Given the description of an element on the screen output the (x, y) to click on. 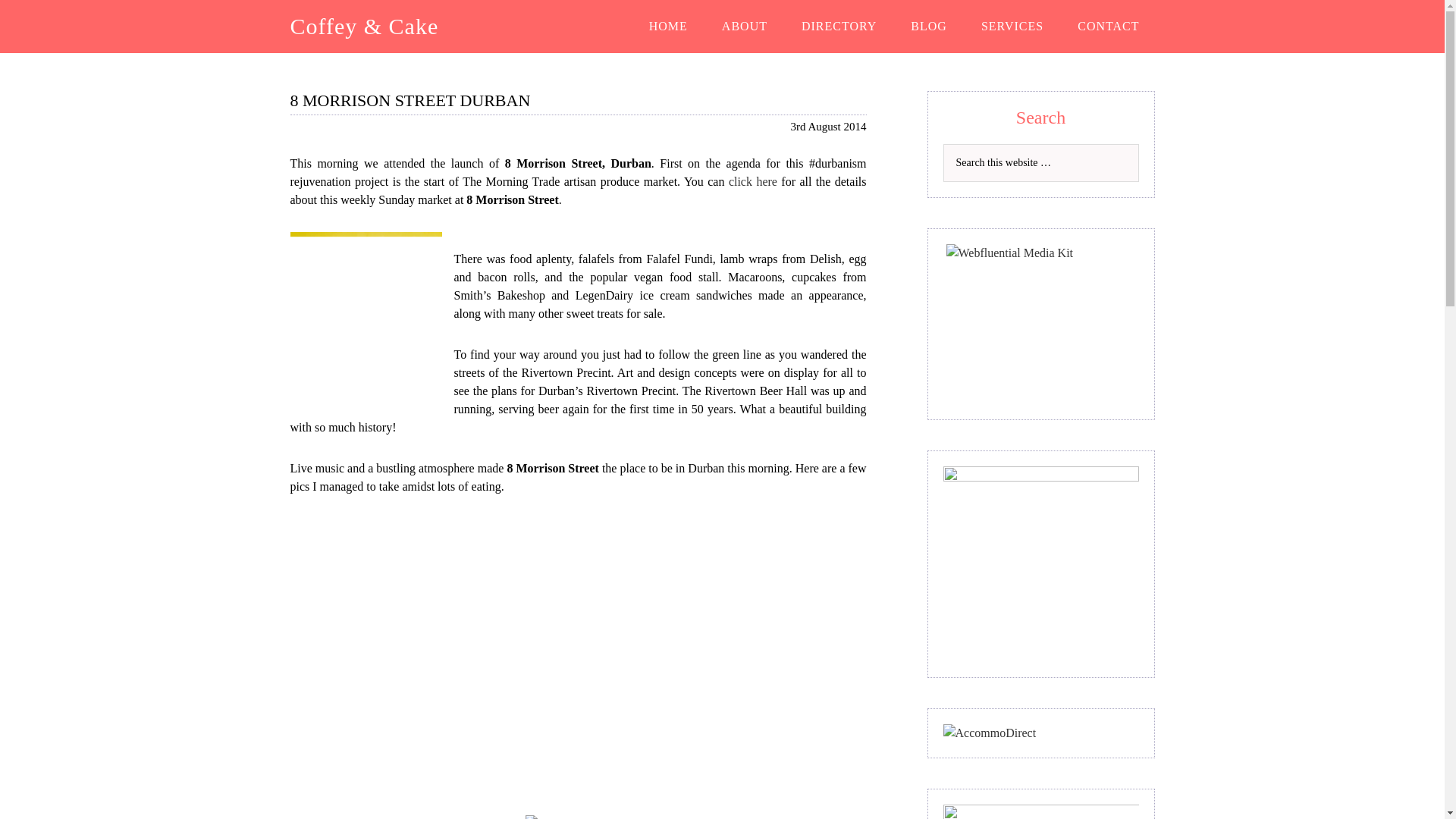
click here (754, 181)
ABOUT (744, 26)
CONTACT (1108, 26)
8 Morrison Street Durban (578, 816)
SERVICES (1012, 26)
BLOG (928, 26)
